Given the description of an element on the screen output the (x, y) to click on. 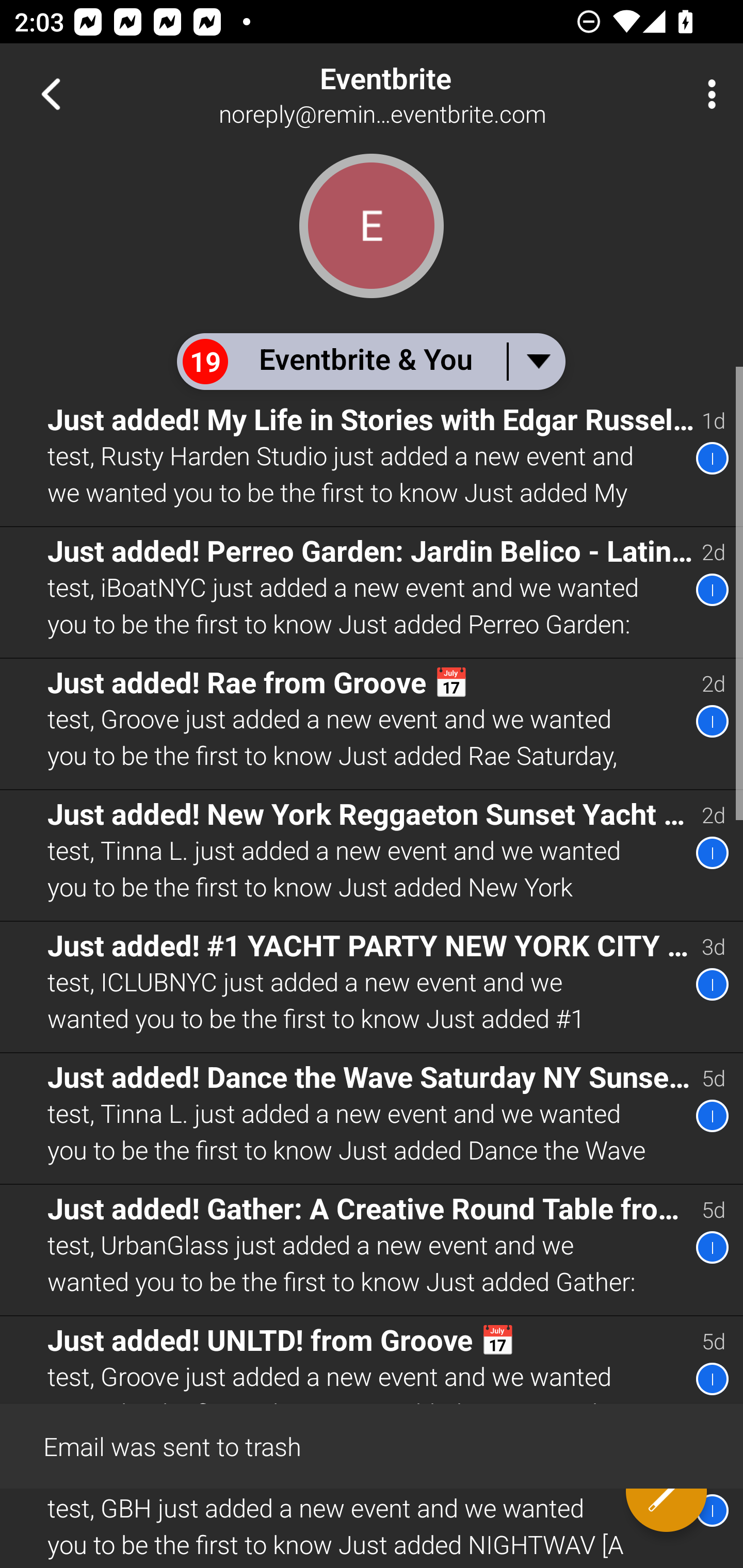
Navigate up (50, 93)
Eventbrite noreply@reminder.eventbrite.com (436, 93)
More Options (706, 93)
19 Eventbrite & You (370, 361)
Email was sent to trash (371, 1445)
